Given the description of an element on the screen output the (x, y) to click on. 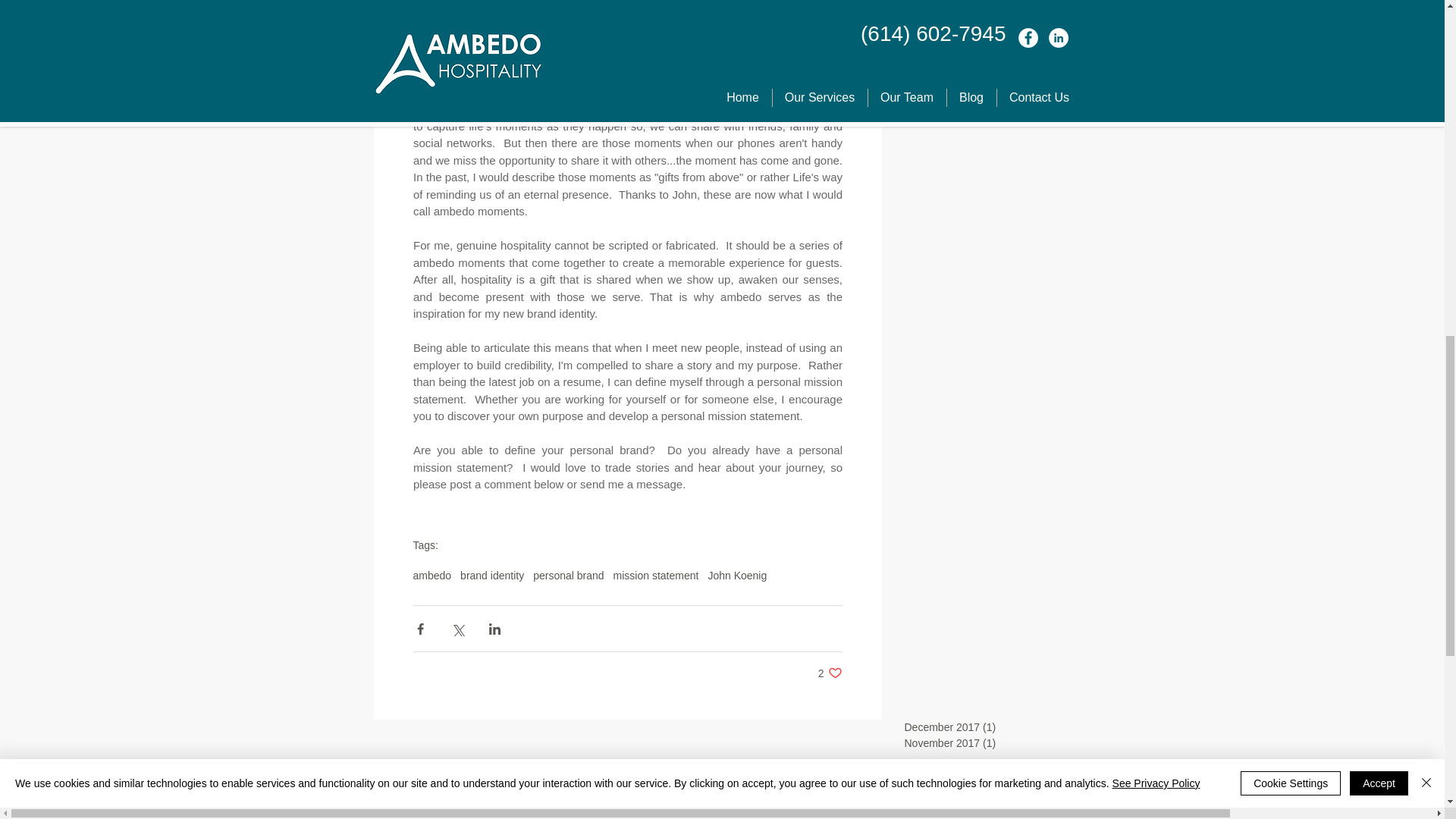
mission statement (655, 575)
brand identity (830, 672)
John Koenig (492, 575)
brand identity (737, 575)
personal brand (983, 811)
ambedo (568, 575)
ambedo (923, 811)
